Given the description of an element on the screen output the (x, y) to click on. 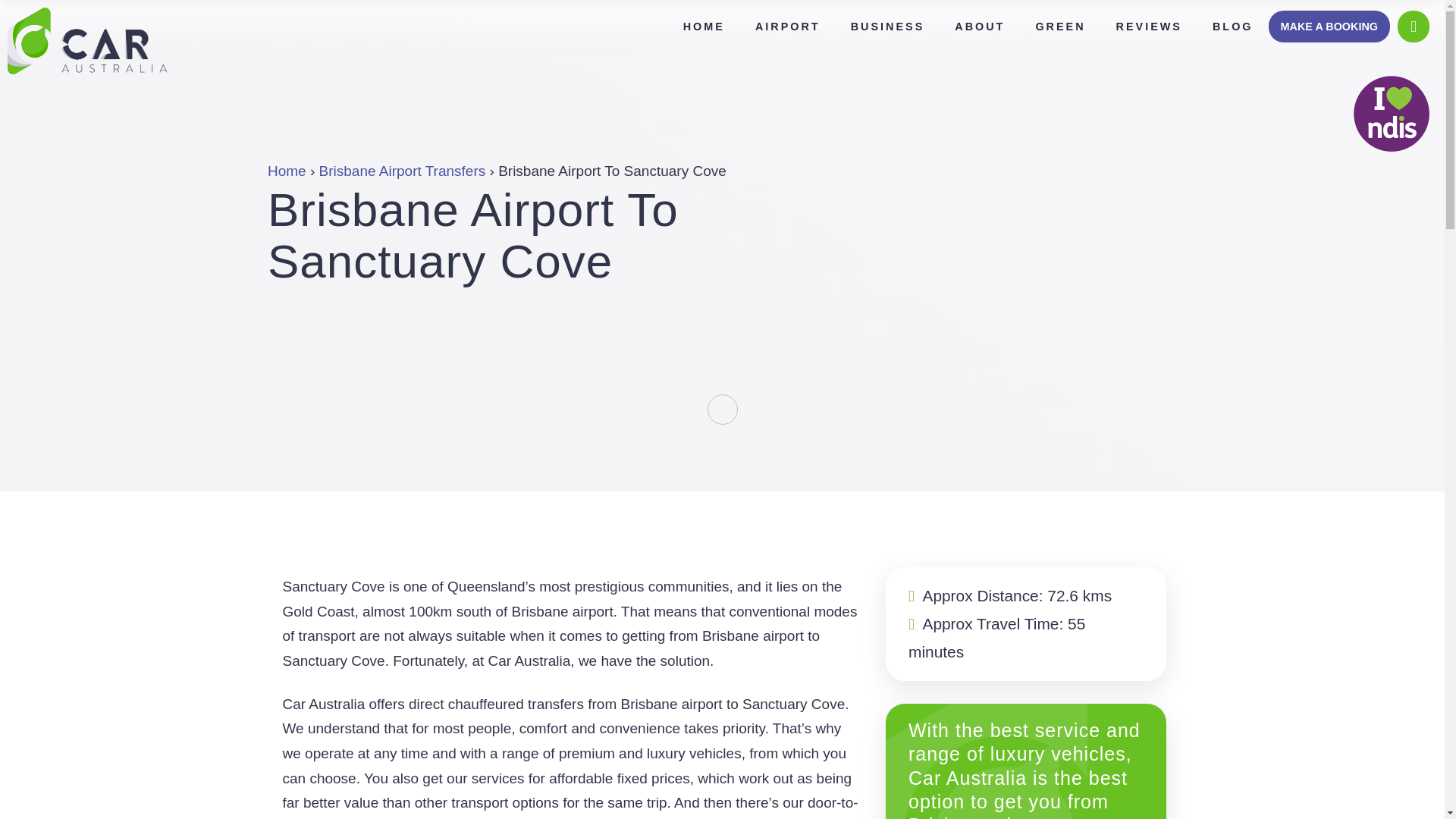
BUSINESS (887, 26)
Brisbane Airport Transfers (401, 170)
MAKE A BOOKING (1329, 26)
REVIEWS (1148, 26)
LOGIN (1412, 26)
ndis transport supplier (1391, 113)
GREEN (1060, 26)
Home (285, 170)
ABOUT (979, 26)
BLOG (1232, 26)
AIRPORT (787, 26)
HOME (703, 26)
